Given the description of an element on the screen output the (x, y) to click on. 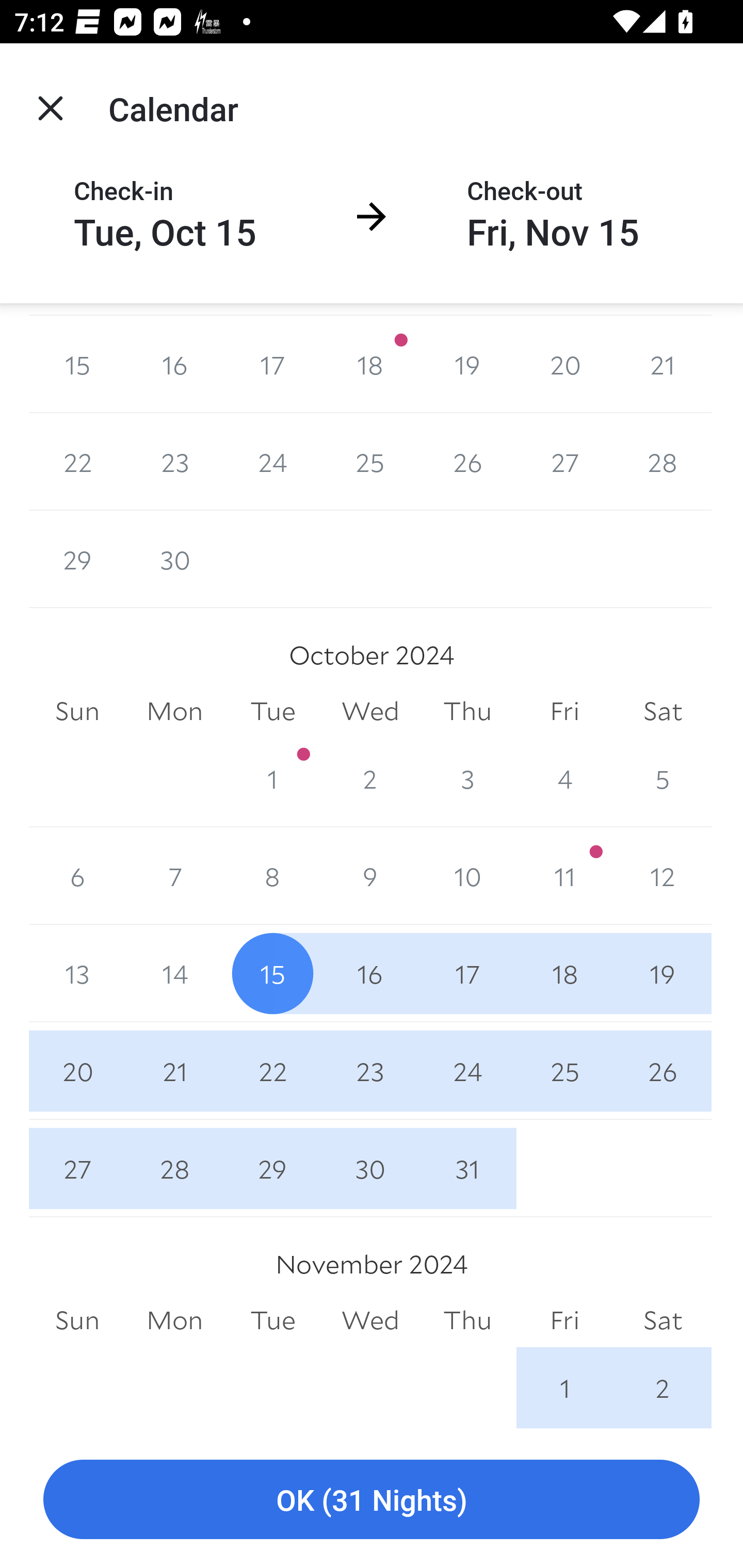
15 15 September 2024 (77, 363)
16 16 September 2024 (174, 363)
17 17 September 2024 (272, 363)
18 18 September 2024 (370, 363)
19 19 September 2024 (467, 363)
20 20 September 2024 (564, 363)
21 21 September 2024 (662, 363)
22 22 September 2024 (77, 461)
23 23 September 2024 (174, 461)
24 24 September 2024 (272, 461)
25 25 September 2024 (370, 461)
26 26 September 2024 (467, 461)
27 27 September 2024 (564, 461)
28 28 September 2024 (662, 461)
29 29 September 2024 (77, 559)
30 30 September 2024 (174, 559)
Sun (77, 711)
Mon (174, 711)
Tue (272, 711)
Wed (370, 711)
Thu (467, 711)
Fri (564, 711)
Sat (662, 711)
1 1 October 2024 (272, 778)
2 2 October 2024 (370, 778)
3 3 October 2024 (467, 778)
4 4 October 2024 (564, 778)
5 5 October 2024 (662, 778)
6 6 October 2024 (77, 876)
7 7 October 2024 (174, 876)
8 8 October 2024 (272, 876)
9 9 October 2024 (370, 876)
10 10 October 2024 (467, 876)
11 11 October 2024 (564, 876)
12 12 October 2024 (662, 876)
13 13 October 2024 (77, 973)
14 14 October 2024 (174, 973)
15 15 October 2024 (272, 973)
16 16 October 2024 (370, 973)
17 17 October 2024 (467, 973)
18 18 October 2024 (564, 973)
19 19 October 2024 (662, 973)
20 20 October 2024 (77, 1070)
21 21 October 2024 (174, 1070)
22 22 October 2024 (272, 1070)
23 23 October 2024 (370, 1070)
24 24 October 2024 (467, 1070)
25 25 October 2024 (564, 1070)
26 26 October 2024 (662, 1070)
